Given the description of an element on the screen output the (x, y) to click on. 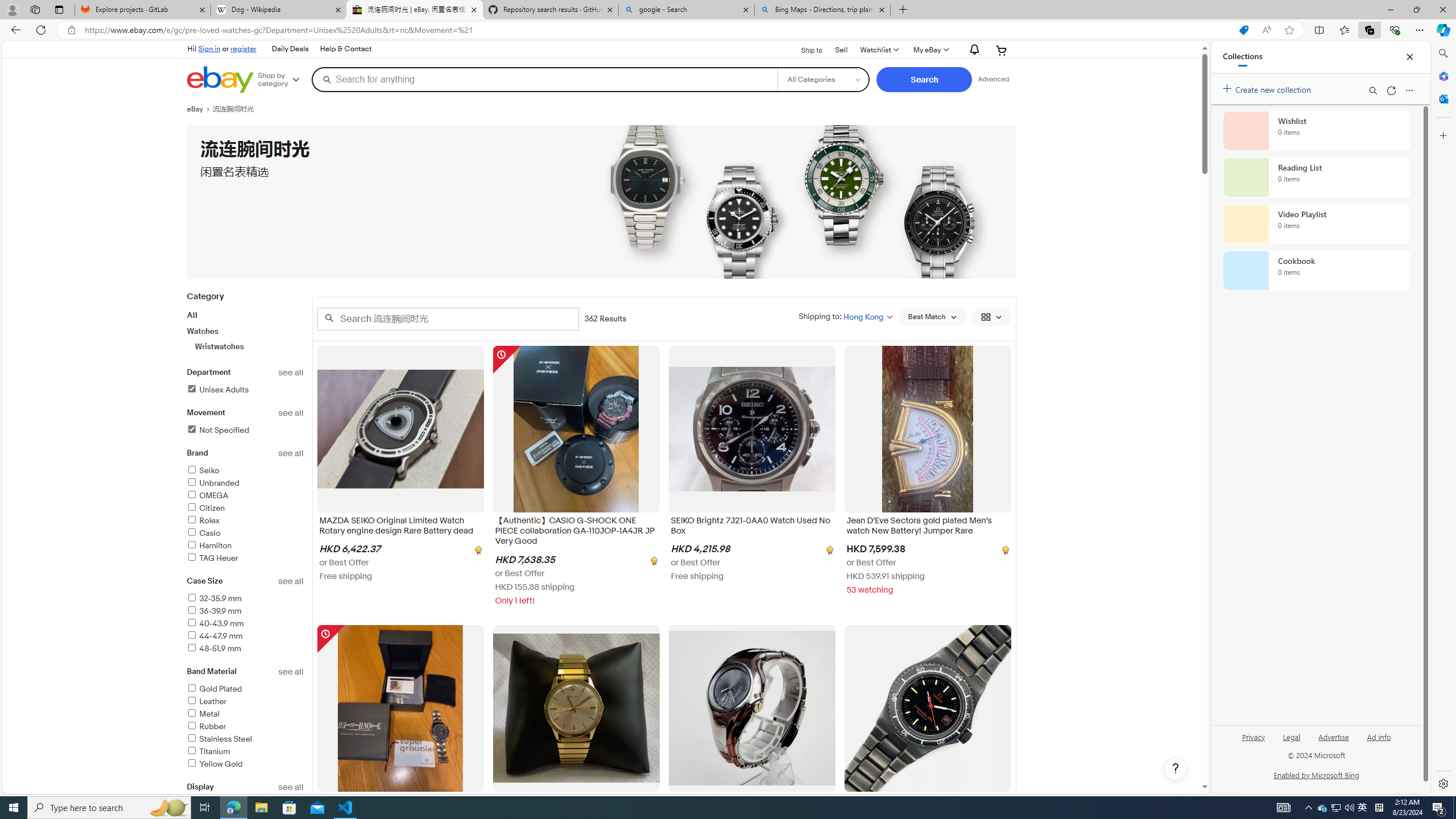
Wishlist collection, 0 items (1316, 130)
TAG Heuer (212, 558)
Casio (245, 533)
Side bar (1443, 418)
register (243, 48)
Sort: Best Match (932, 316)
Search (1442, 53)
See all case size refinements (291, 581)
Yellow Gold (214, 764)
OMEGA (245, 495)
eBay (199, 108)
